Given the description of an element on the screen output the (x, y) to click on. 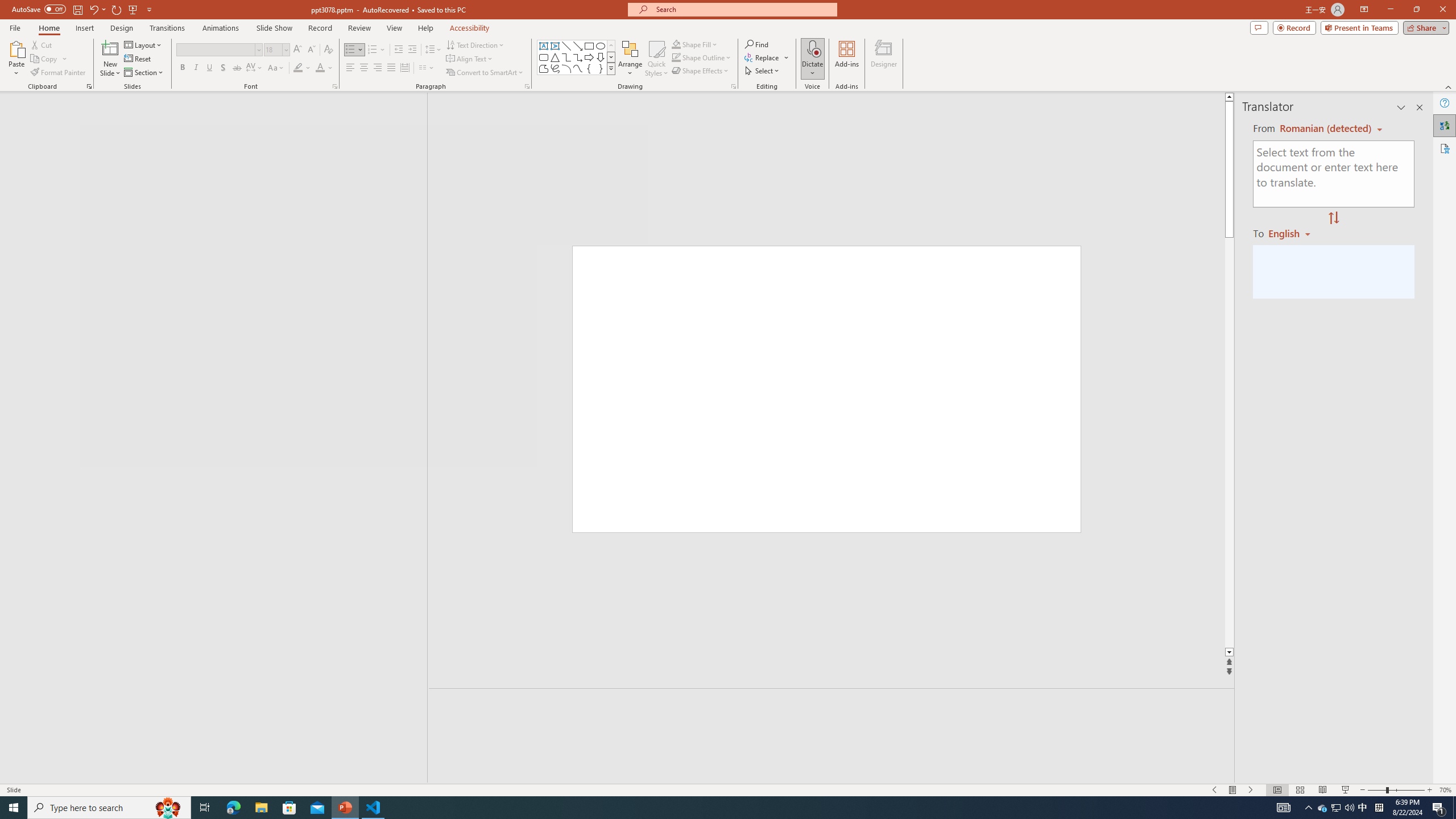
Paragraph... (526, 85)
Row up (611, 45)
Customize Quick Access Toolbar (149, 9)
AutoSave (38, 9)
Slide Notes (831, 705)
Curve (577, 68)
Paste (16, 58)
Font Color Red (320, 67)
Close pane (1419, 107)
Romanian (detected) (1323, 128)
Isosceles Triangle (554, 57)
Clear Formatting (327, 49)
